Given the description of an element on the screen output the (x, y) to click on. 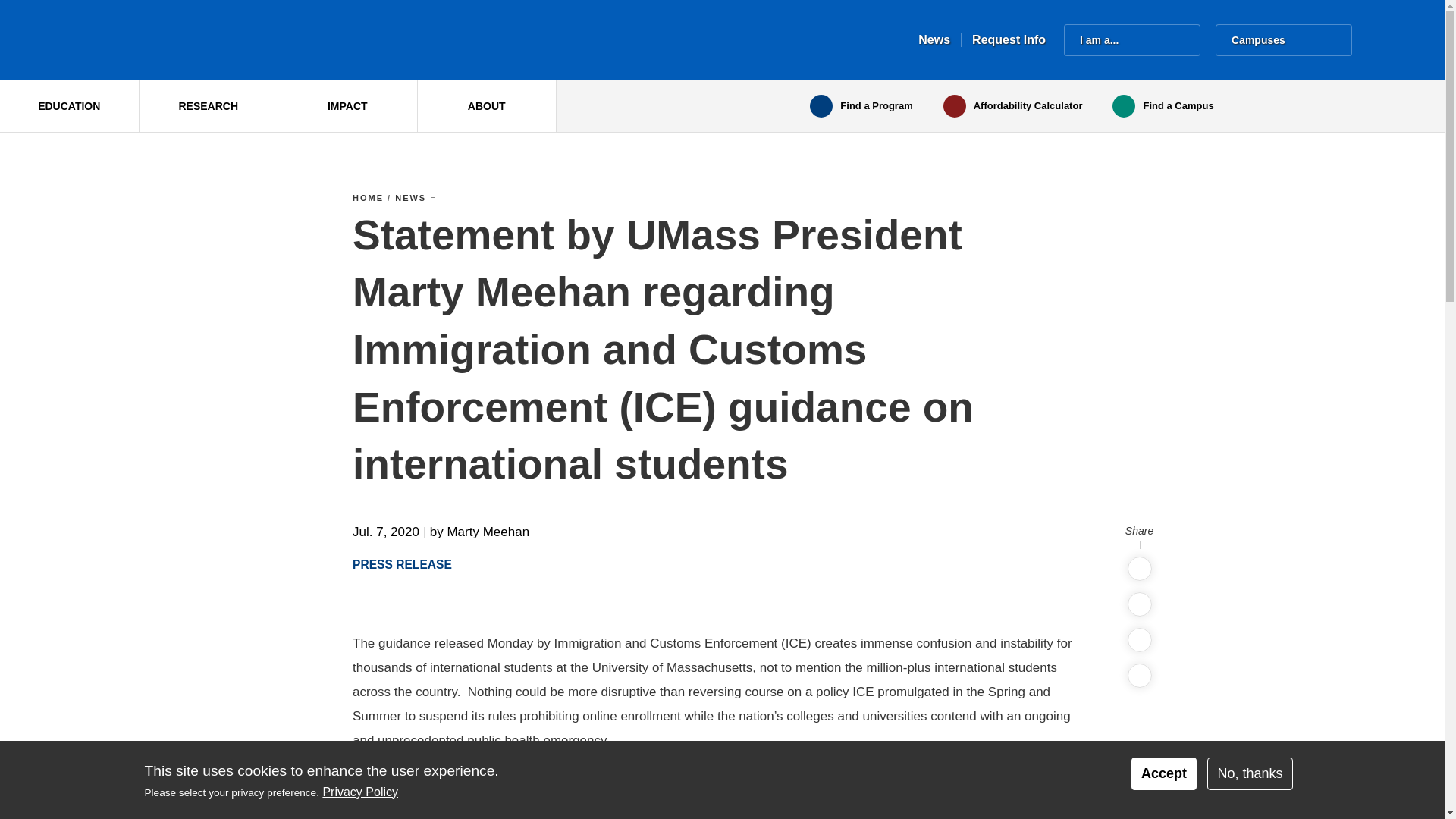
No, thanks (1249, 773)
open menu (1131, 40)
share via Email (1138, 675)
I am a... (1131, 40)
University of Massachusetts (288, 38)
Search (1375, 40)
share on Linkedin (1138, 639)
share on Twitter (1138, 568)
Find a Program (860, 106)
share on Facebook (1138, 604)
Affordability Calculator (1013, 106)
ABOUT (486, 105)
IMPACT (347, 105)
News (934, 39)
Campuses (1283, 40)
